Given the description of an element on the screen output the (x, y) to click on. 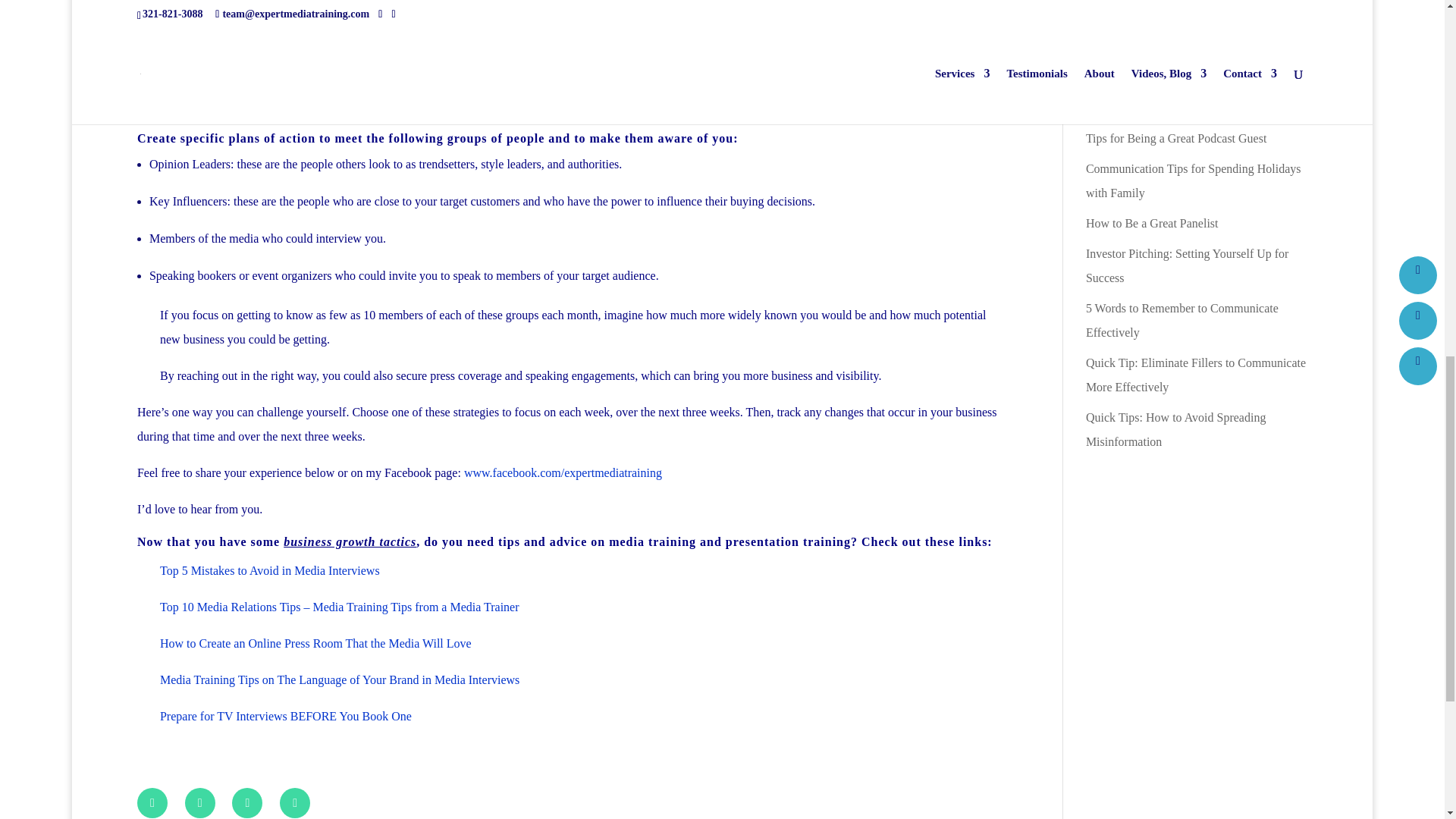
How to Create an Online Press Room That the Media Will Love (315, 643)
Top 5 Mistakes to Avoid in Media Interviews (270, 570)
Prepare for TV Interviews BEFORE You Book One (286, 716)
